Given the description of an element on the screen output the (x, y) to click on. 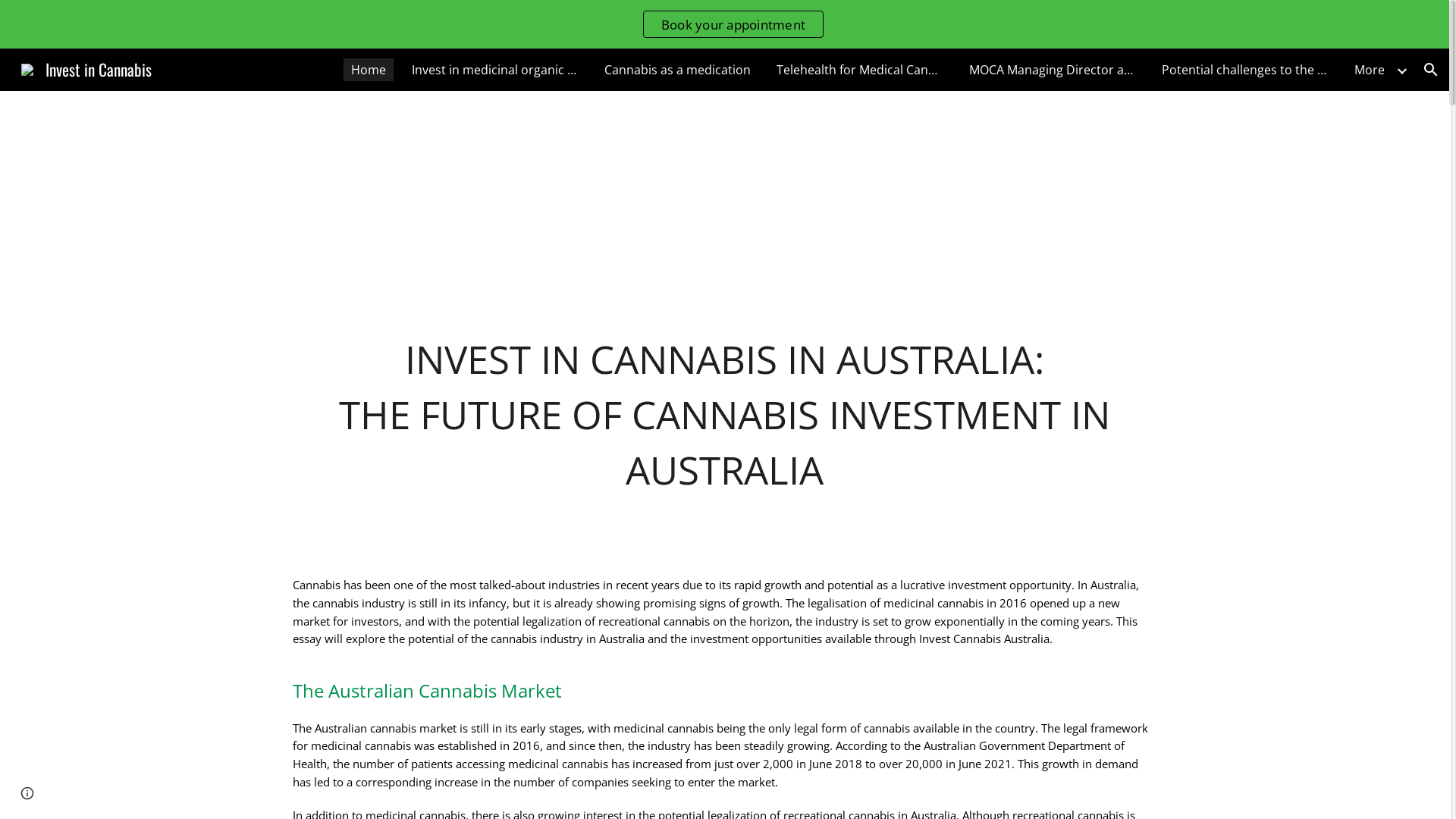
Home Element type: text (368, 69)
Expand/Collapse Element type: hover (1401, 69)
Book your appointment Element type: text (732, 24)
More Element type: text (1369, 69)
MOCA Managing Director and head of strategy Element type: text (1052, 69)
Invest in medicinal organic cannabis Australia Element type: text (495, 69)
Invest in Cannabis Element type: text (86, 66)
Cannabis as a medication Element type: text (677, 69)
